Given the description of an element on the screen output the (x, y) to click on. 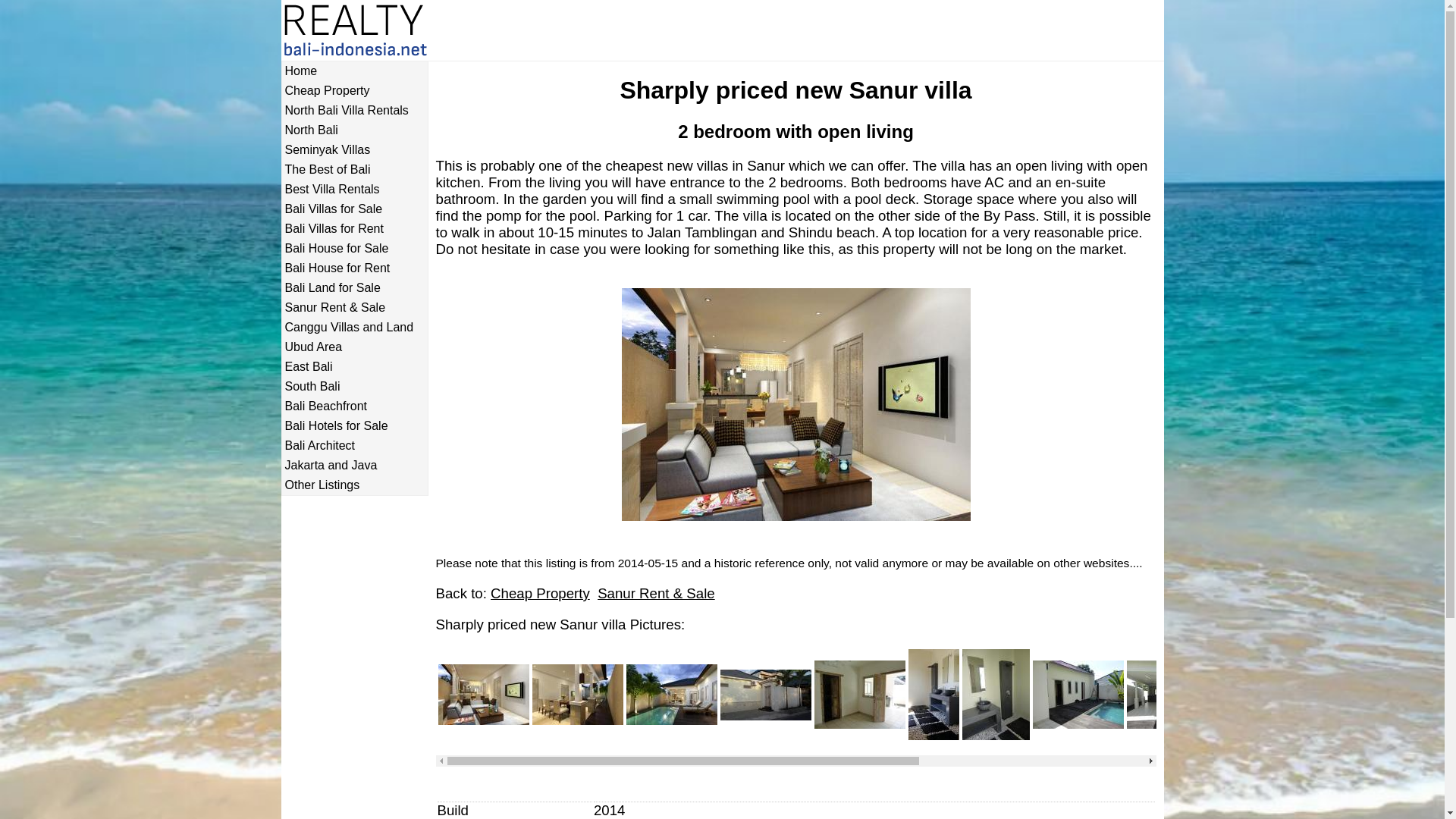
Cheap Property (354, 90)
The Best of Bali (354, 169)
East Bali (354, 366)
Bali House for Rent (354, 268)
North Bali (354, 130)
Bali Villas for Sale (354, 209)
Jakarta and Java (354, 465)
Bali Land for Sale (354, 287)
Cheap Property (539, 593)
Other Listings (354, 485)
Bali Hotels for Sale (354, 426)
Bali House for Sale (354, 248)
Bali Architect (354, 445)
Home (354, 70)
Ubud Area (354, 346)
